Given the description of an element on the screen output the (x, y) to click on. 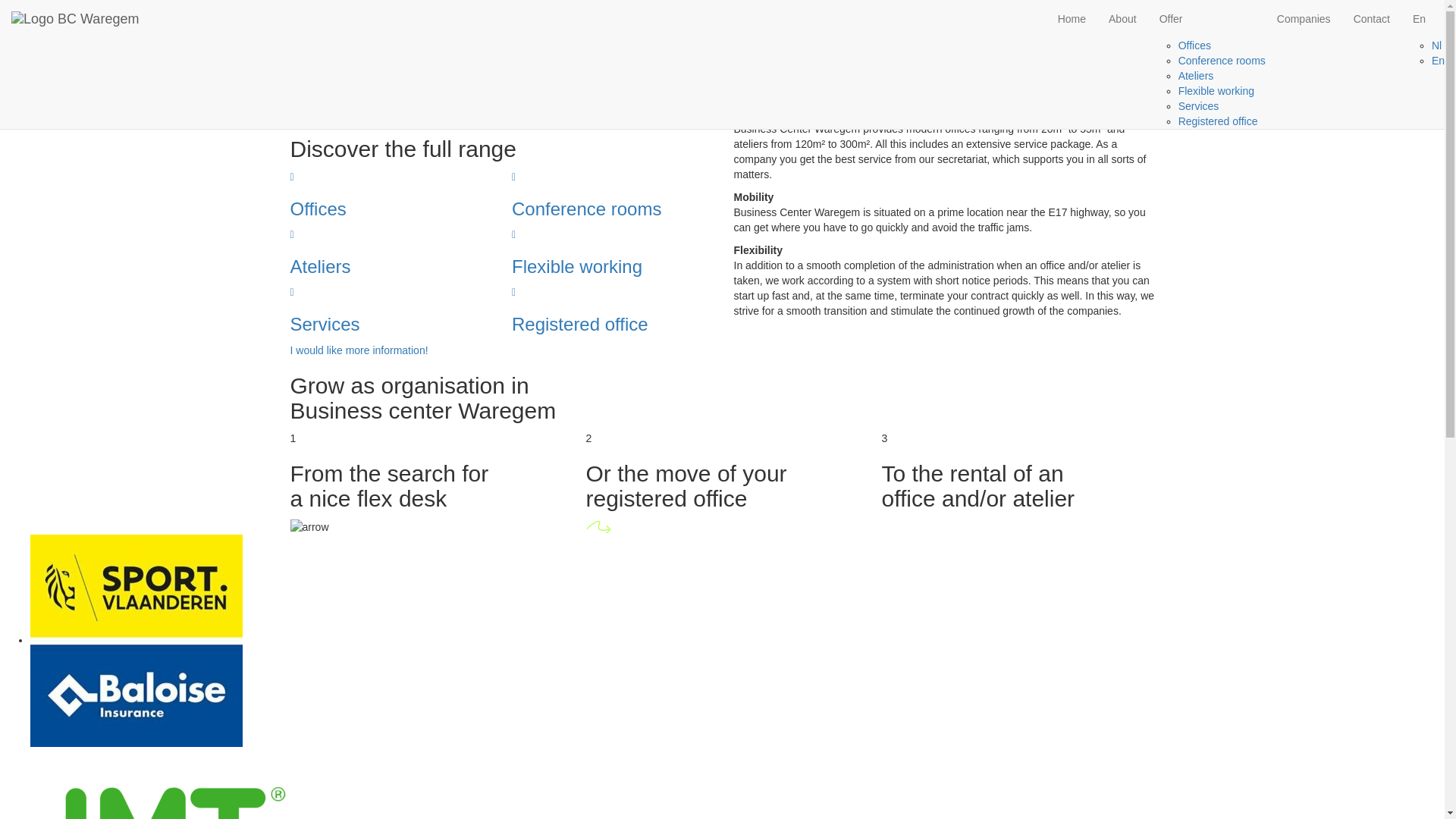
Home Element type: text (1071, 18)
Nl Element type: text (1436, 45)
En Element type: text (1422, 18)
Services Element type: text (1198, 106)
En Element type: text (1437, 60)
I would like more information! Element type: text (358, 350)
Akkoord! Element type: text (20, 37)
Contact Element type: text (1371, 18)
About Element type: text (1122, 18)
Flexible working Element type: text (1216, 90)
Offices Element type: text (1194, 45)
Meer info vind je hier. Element type: text (356, 22)
Ateliers Element type: text (1196, 75)
Conference rooms Element type: text (1221, 60)
Companies Element type: text (1303, 18)
Offer Element type: text (1206, 18)
Registered office Element type: text (1218, 121)
